Given the description of an element on the screen output the (x, y) to click on. 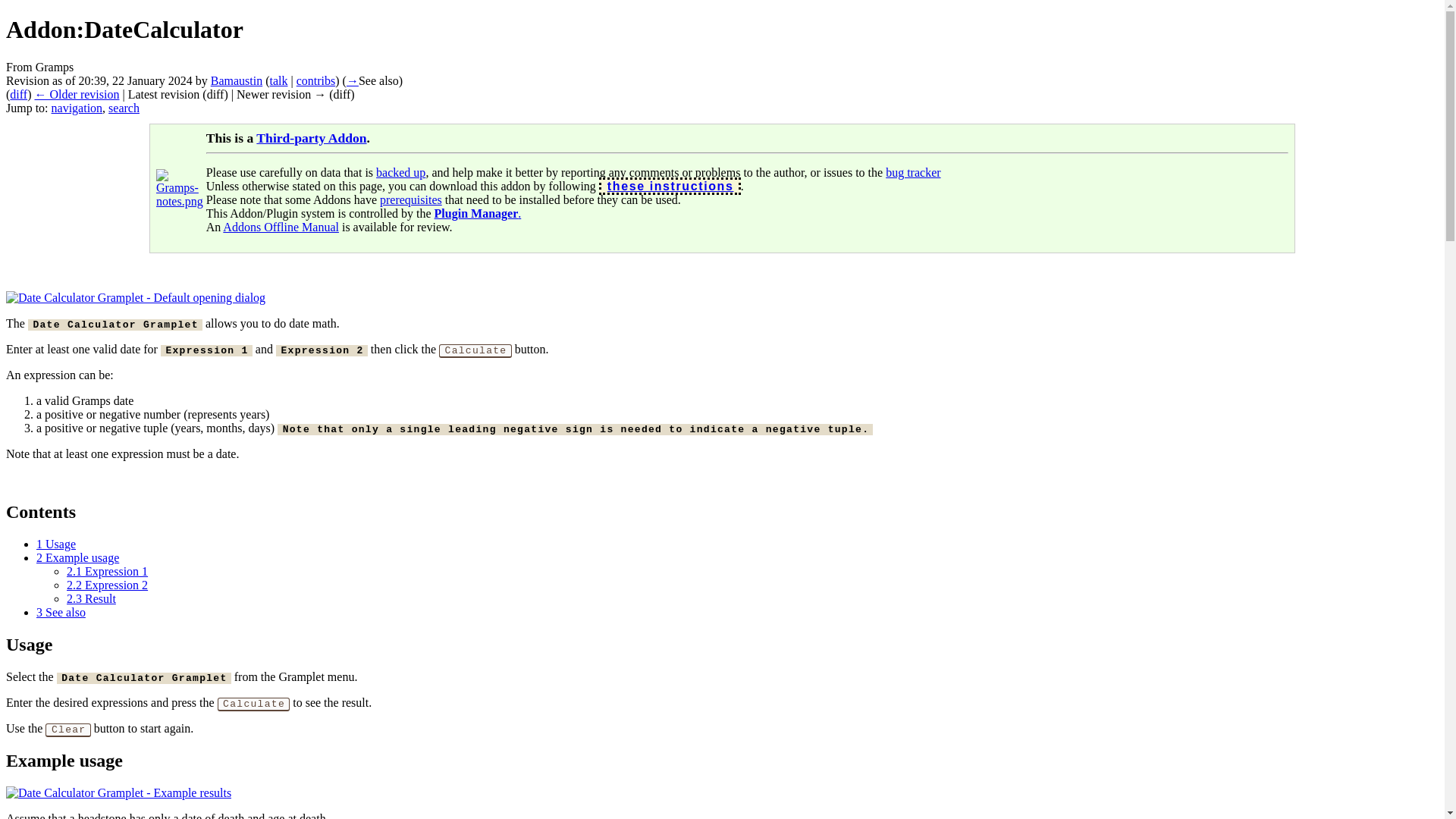
Date Calculator Gramplet - Default opening dialog (134, 297)
contribs (316, 80)
backed up (400, 172)
File:GrampsAddonsUserManual.pdf (280, 226)
Third-party Addon (311, 137)
Addon:DateCalculator (76, 93)
1 Usage (55, 543)
talk (278, 80)
these instructions (670, 185)
Using the bug tracker (912, 172)
Third-party Addons (311, 137)
search (123, 107)
2.3 Result (91, 598)
Gramps 5.2 Wiki Manual - Plugin Manager (477, 213)
prerequisites (411, 199)
